Given the description of an element on the screen output the (x, y) to click on. 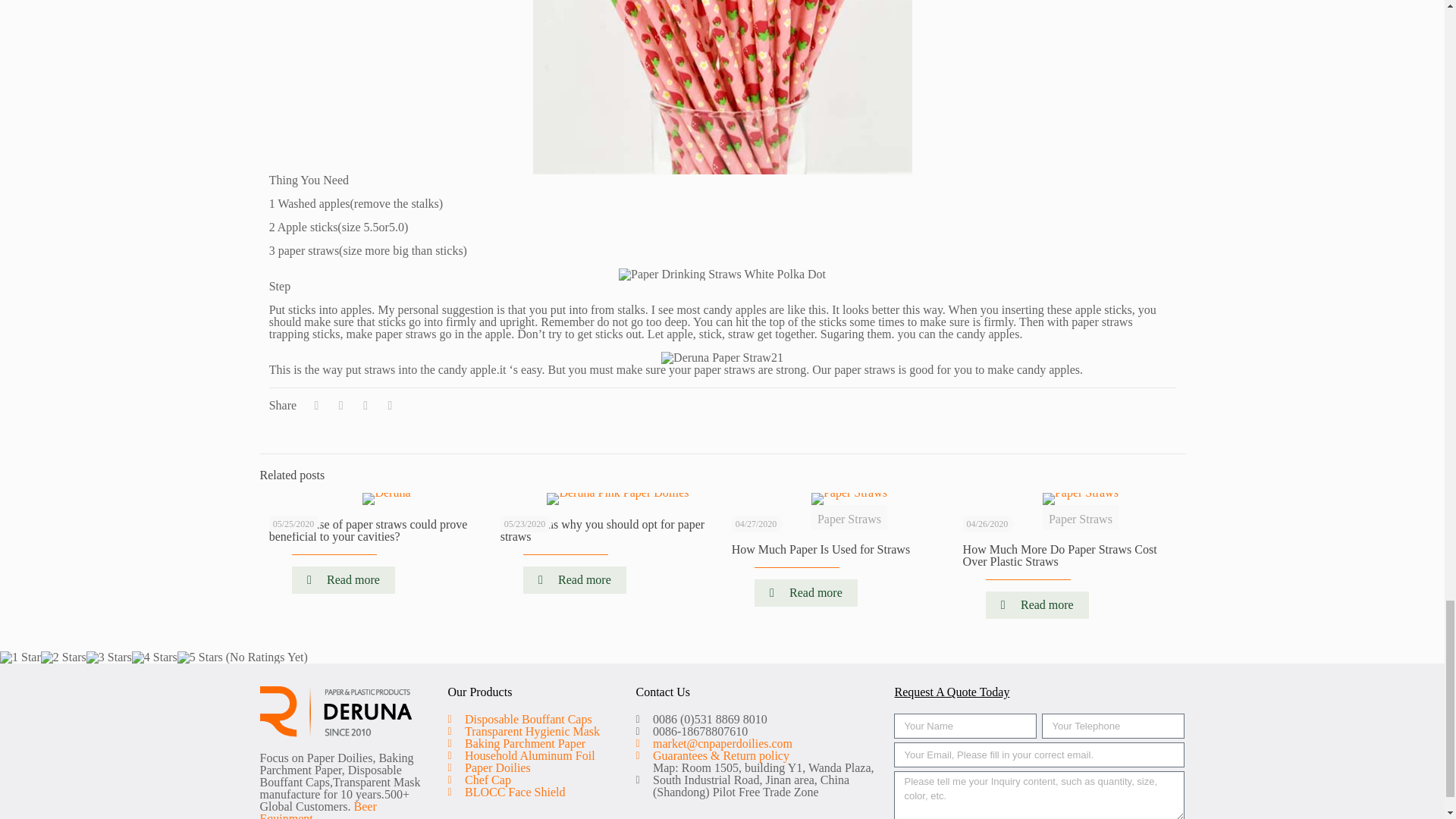
How Much More Do Paper Straws Cost Over Plastic Straws 13 (1080, 499)
2 Stars (62, 657)
Top reasons why you should opt for paper straws 9 (617, 499)
5 Stars (199, 657)
1 Star (20, 657)
3 Stars (108, 657)
How Do You Put Paper Straws for Candy Apples 3 (721, 87)
4 Stars (154, 657)
